Given the description of an element on the screen output the (x, y) to click on. 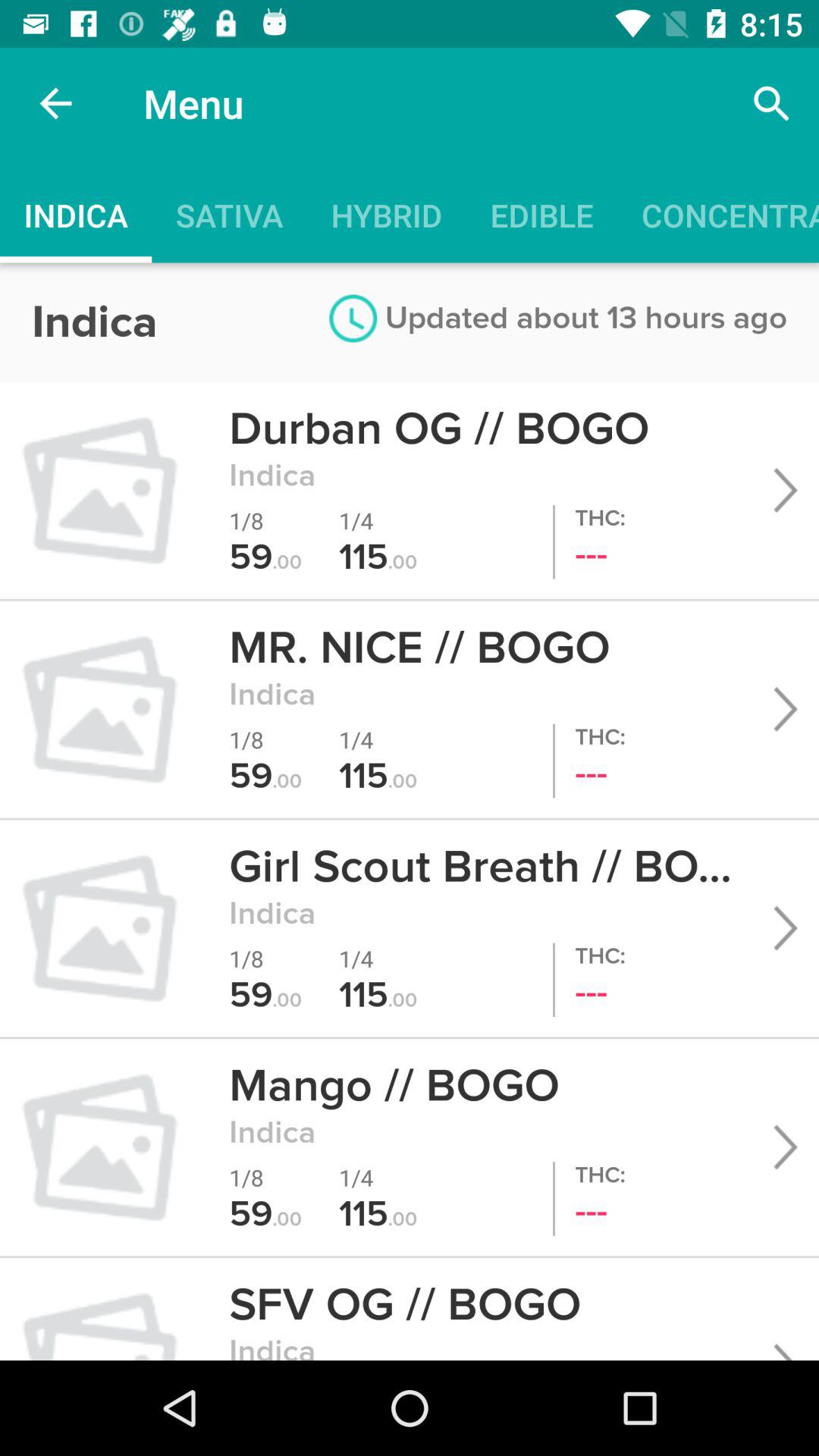
choose item above indica (55, 103)
